Given the description of an element on the screen output the (x, y) to click on. 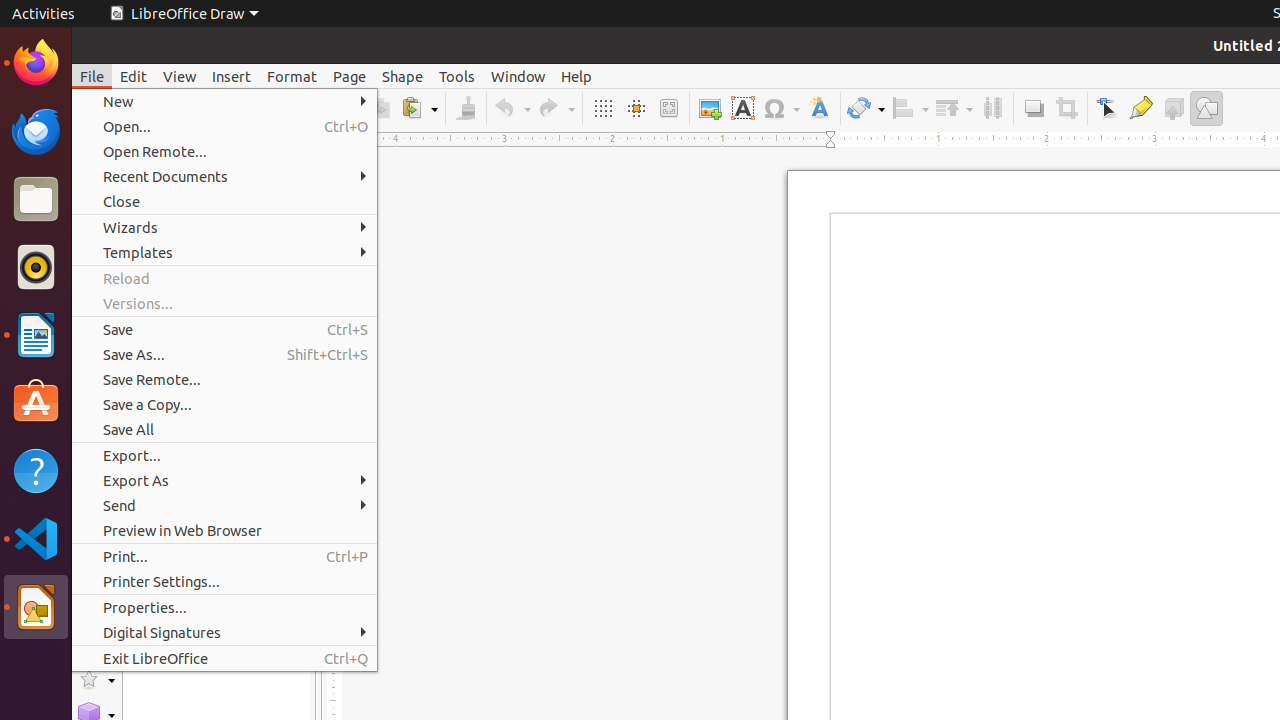
Zoom & Pan Element type: push-button (668, 108)
LibreOffice Writer Element type: push-button (36, 334)
Crop Element type: push-button (1066, 108)
New Element type: menu (224, 101)
Text Box Element type: push-button (742, 108)
